Given the description of an element on the screen output the (x, y) to click on. 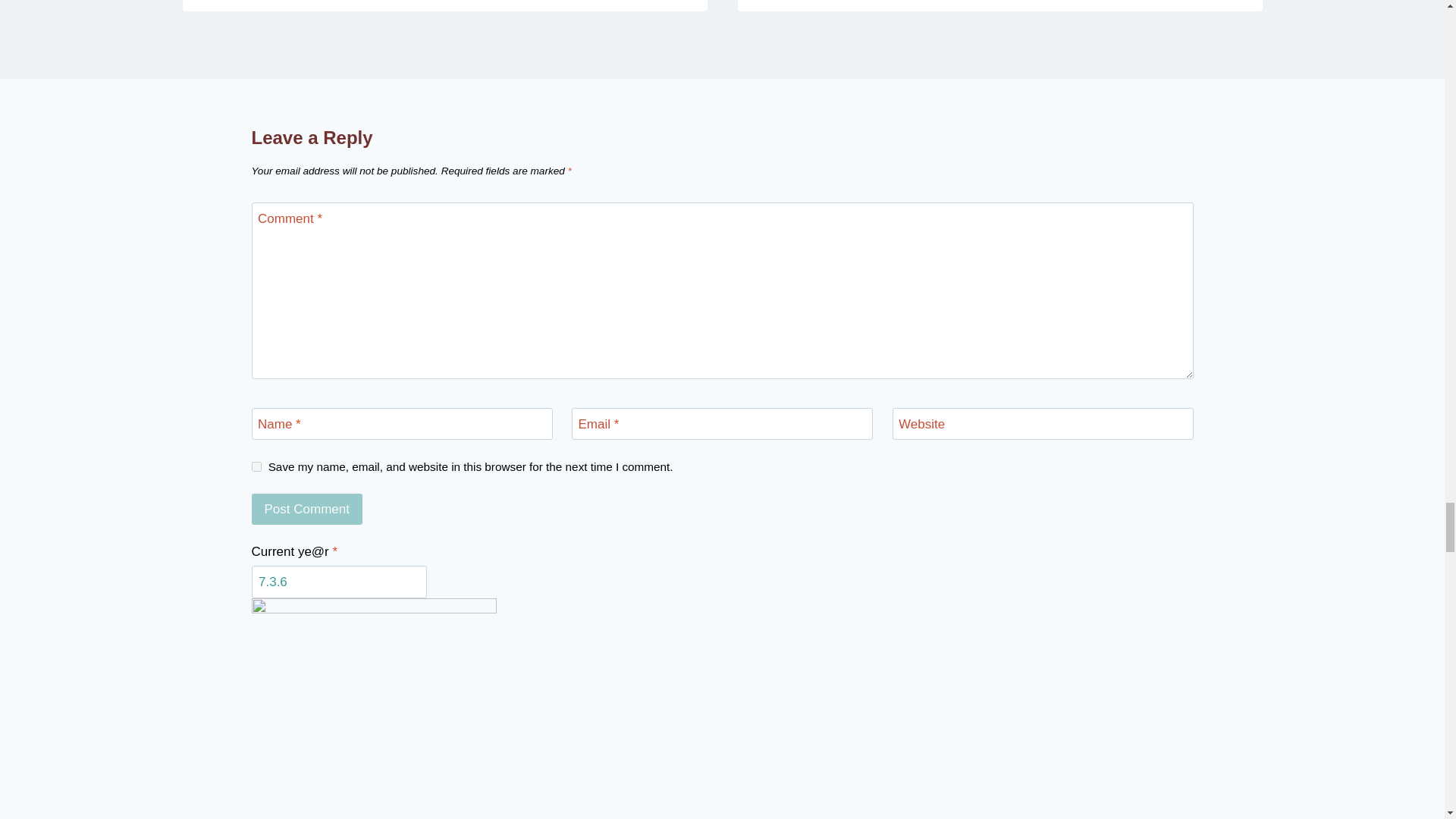
Post Comment (306, 508)
yes (256, 466)
7.3.6 (338, 581)
